Given the description of an element on the screen output the (x, y) to click on. 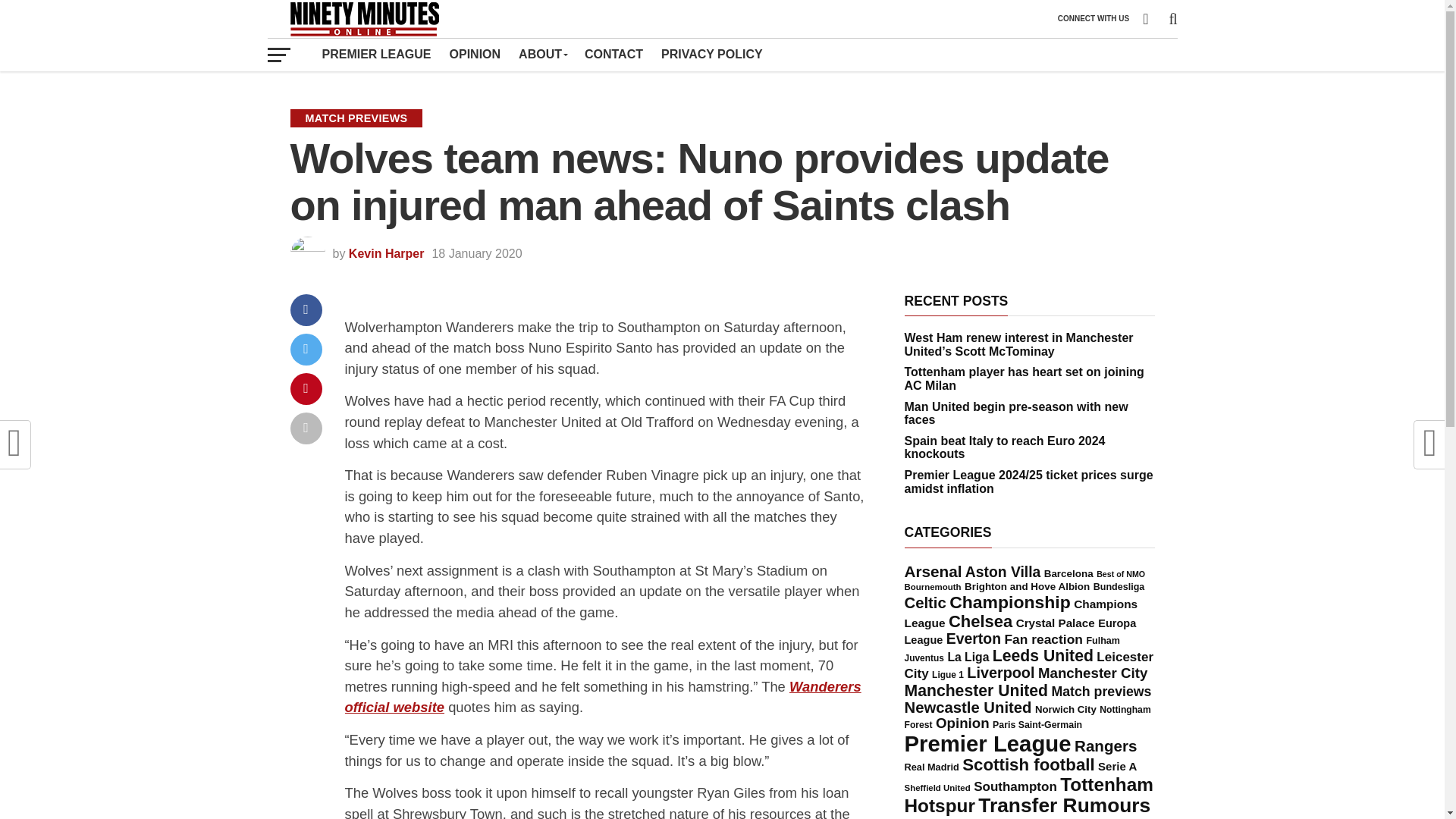
OPINION (476, 54)
Barcelona (1068, 573)
Arsenal (932, 570)
PREMIER LEAGUE (376, 54)
Kevin Harper (387, 253)
CONTACT (613, 54)
Best of NMO (1120, 573)
Aston Villa (1003, 571)
Spain beat Italy to reach Euro 2024 knockouts (1004, 447)
ABOUT (542, 54)
